Given the description of an element on the screen output the (x, y) to click on. 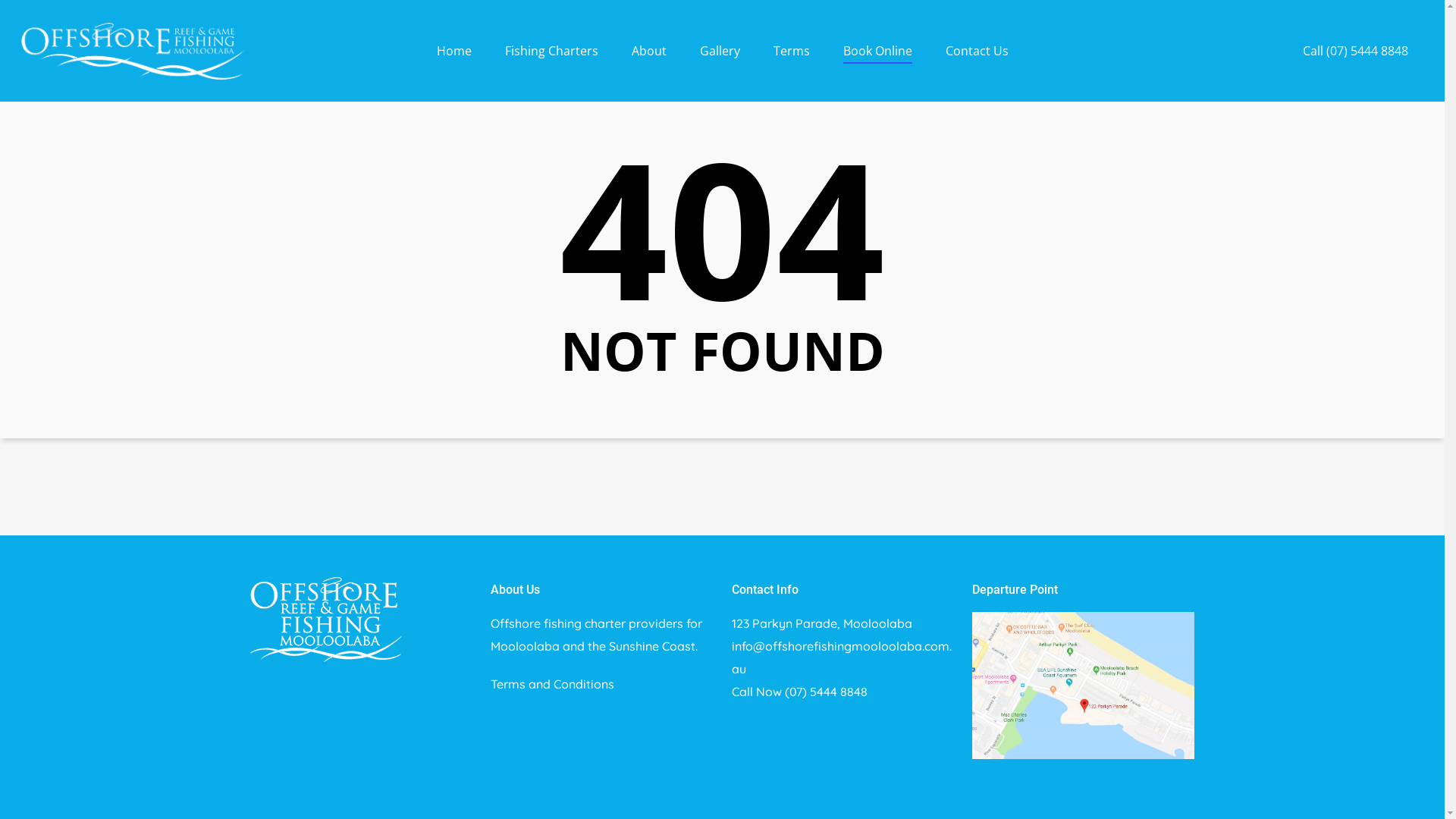
Fishing Charters Element type: text (551, 61)
Call (07) 5444 8848 Element type: text (1355, 61)
Gallery Element type: text (719, 61)
About Element type: text (647, 61)
Book Online Element type: text (877, 61)
Terms Element type: text (791, 61)
Terms and Conditions Element type: text (552, 683)
Contact Us Element type: text (975, 61)
info@offshorefishingmooloolaba.com.au Element type: text (841, 657)
Call Now (07) 5444 8848 Element type: text (799, 691)
Home Element type: text (453, 61)
